Given the description of an element on the screen output the (x, y) to click on. 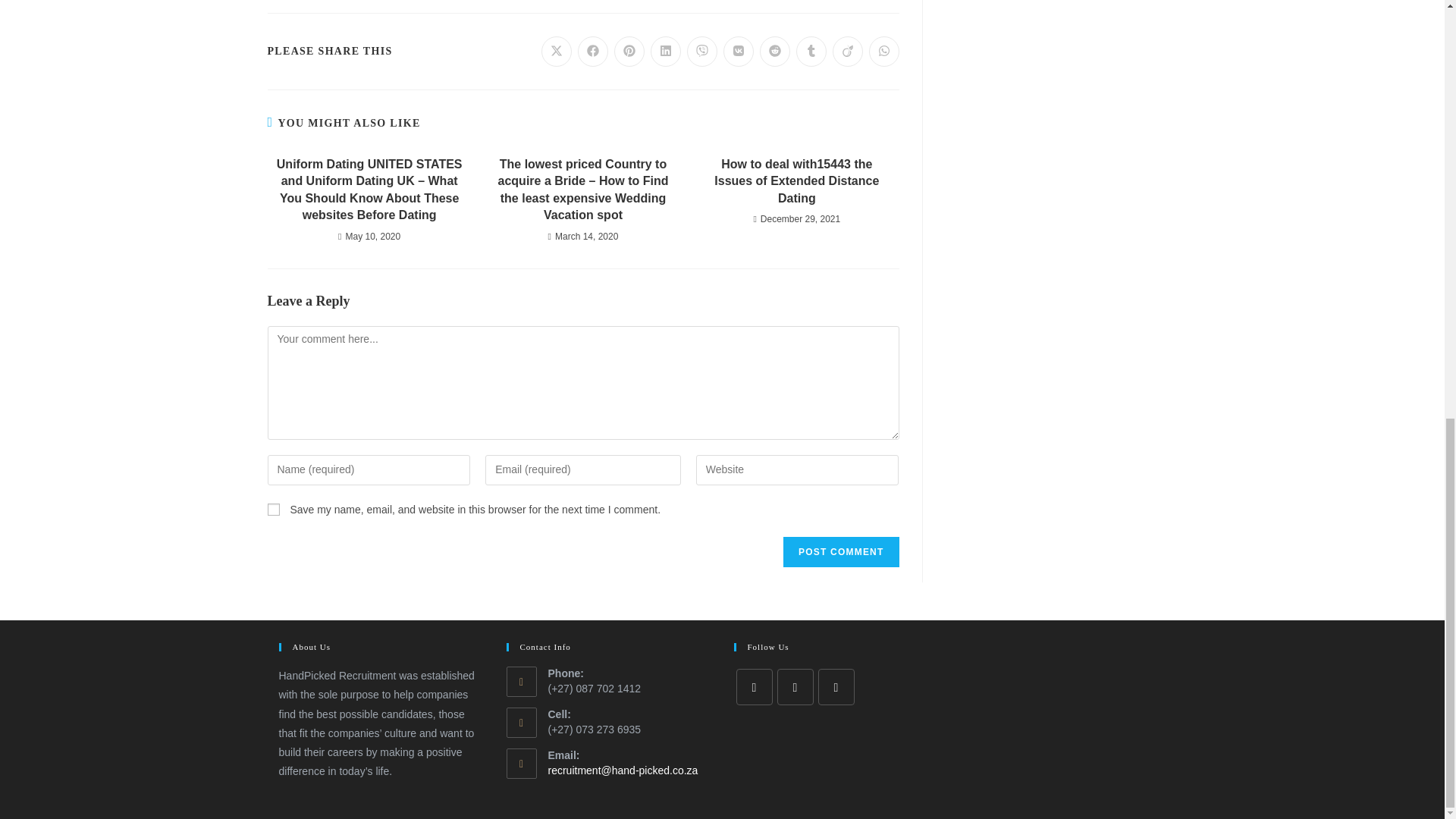
yes (272, 509)
Post Comment (840, 552)
How to deal with15443 the Issues of Extended Distance Dating (796, 181)
